Given the description of an element on the screen output the (x, y) to click on. 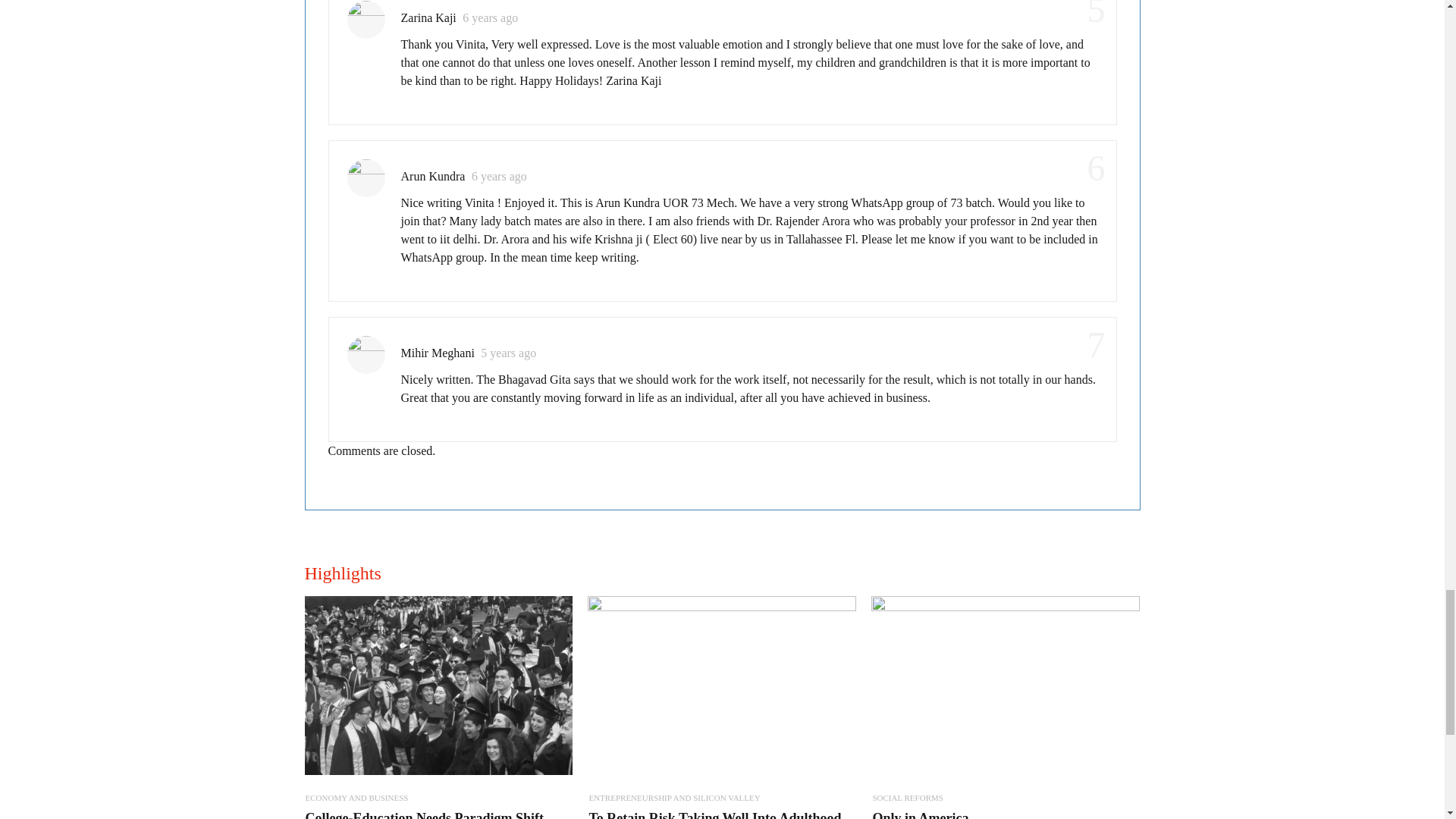
Only in America (920, 814)
View all posts in Entrepreneurship and Silicon Valley (674, 797)
College-Education Needs Paradigm Shift (423, 814)
View all posts in Social Reforms (907, 797)
View all posts in Economy And Business (355, 797)
